Given the description of an element on the screen output the (x, y) to click on. 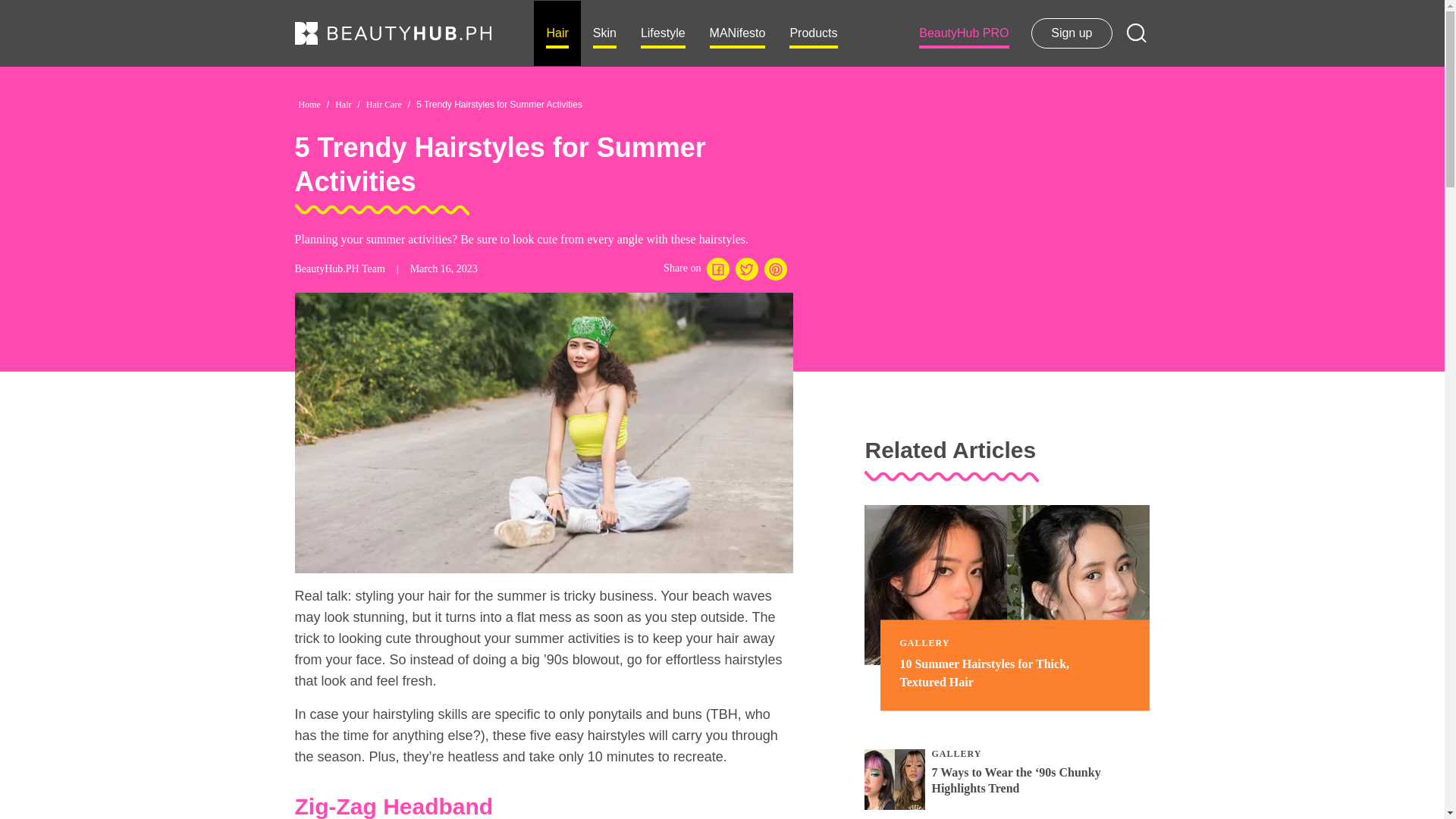
Sign up (1071, 33)
Lifestyle (662, 33)
Products (812, 33)
MANifesto (737, 33)
